Given the description of an element on the screen output the (x, y) to click on. 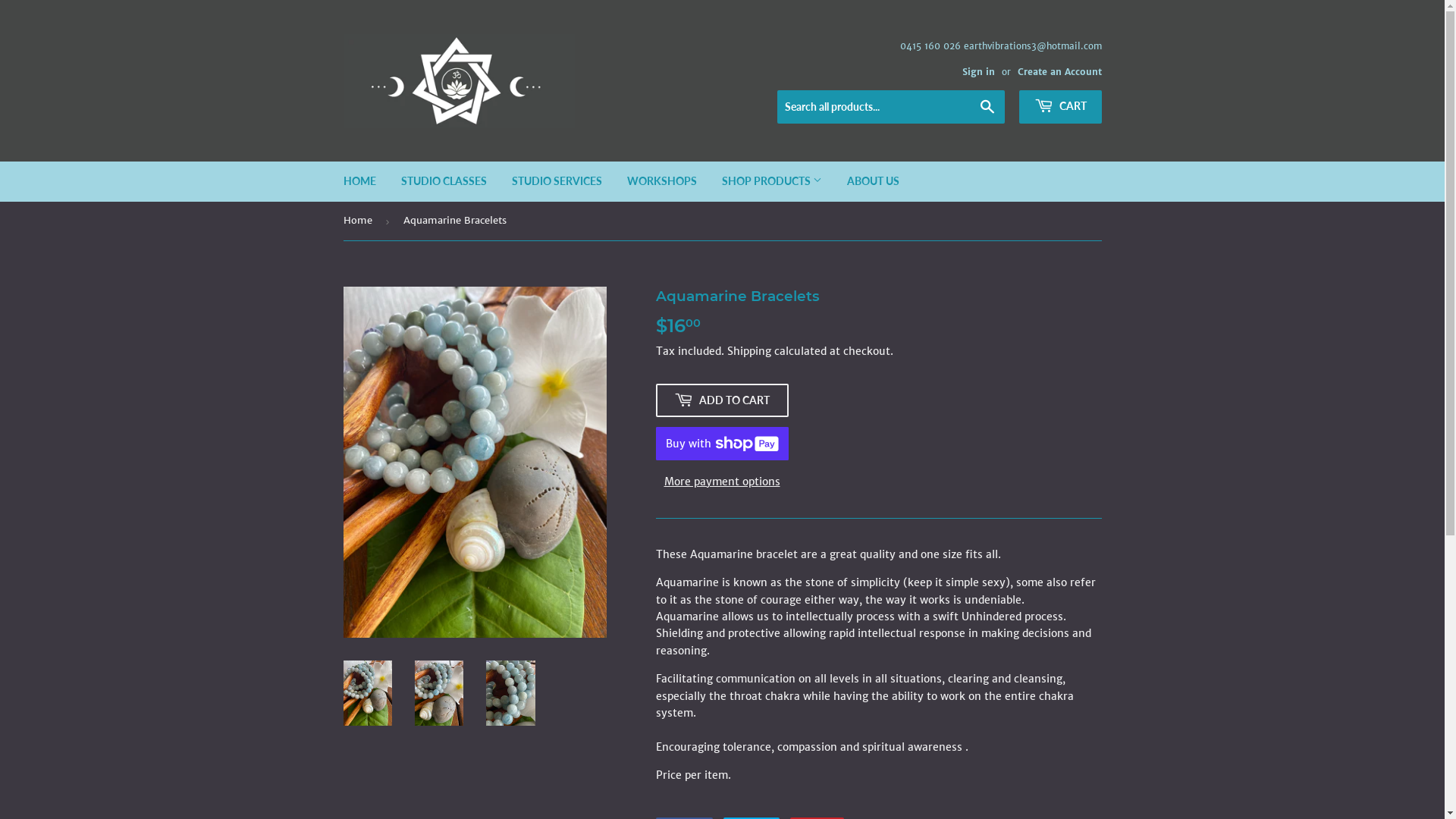
ADD TO CART Element type: text (721, 400)
HOME Element type: text (359, 180)
CART Element type: text (1060, 106)
Home Element type: text (359, 220)
Sign in Element type: text (977, 71)
Create an Account Element type: text (1059, 71)
STUDIO CLASSES Element type: text (443, 180)
More payment options Element type: text (721, 480)
SHOP PRODUCTS Element type: text (770, 180)
Shipping Element type: text (748, 350)
STUDIO SERVICES Element type: text (556, 180)
ABOUT US Element type: text (872, 180)
Search Element type: text (987, 107)
WORKSHOPS Element type: text (661, 180)
